Given the description of an element on the screen output the (x, y) to click on. 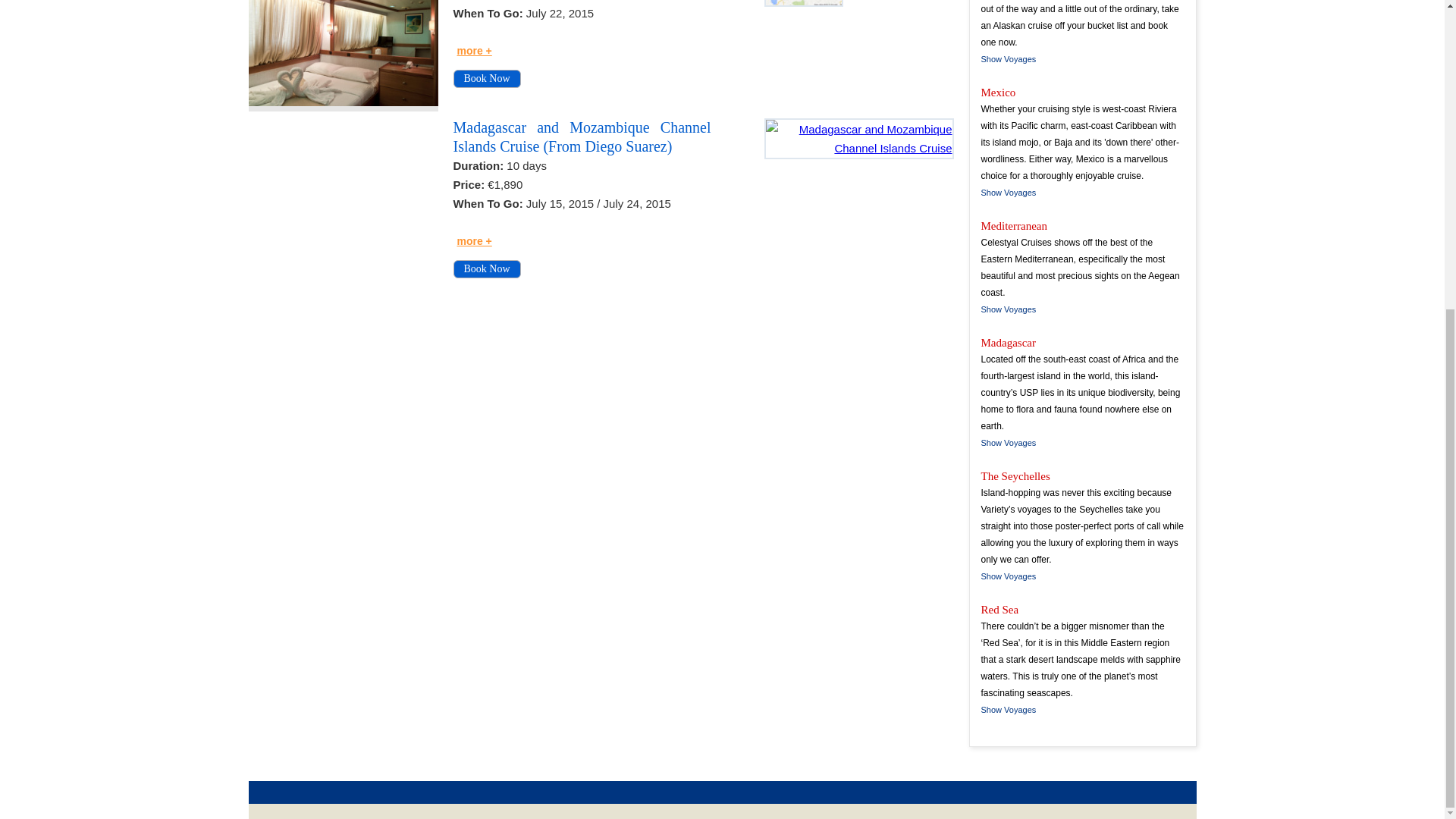
Madagascar and Mozambique Channel Islands Cruise (803, 3)
Book Now (486, 78)
Book Now (486, 269)
Mexico Voyages (1008, 192)
Mediterranean Voyages (1008, 308)
Show Voyages (1008, 442)
Show Voyages (1008, 192)
Show Voyages (1008, 575)
